Given the description of an element on the screen output the (x, y) to click on. 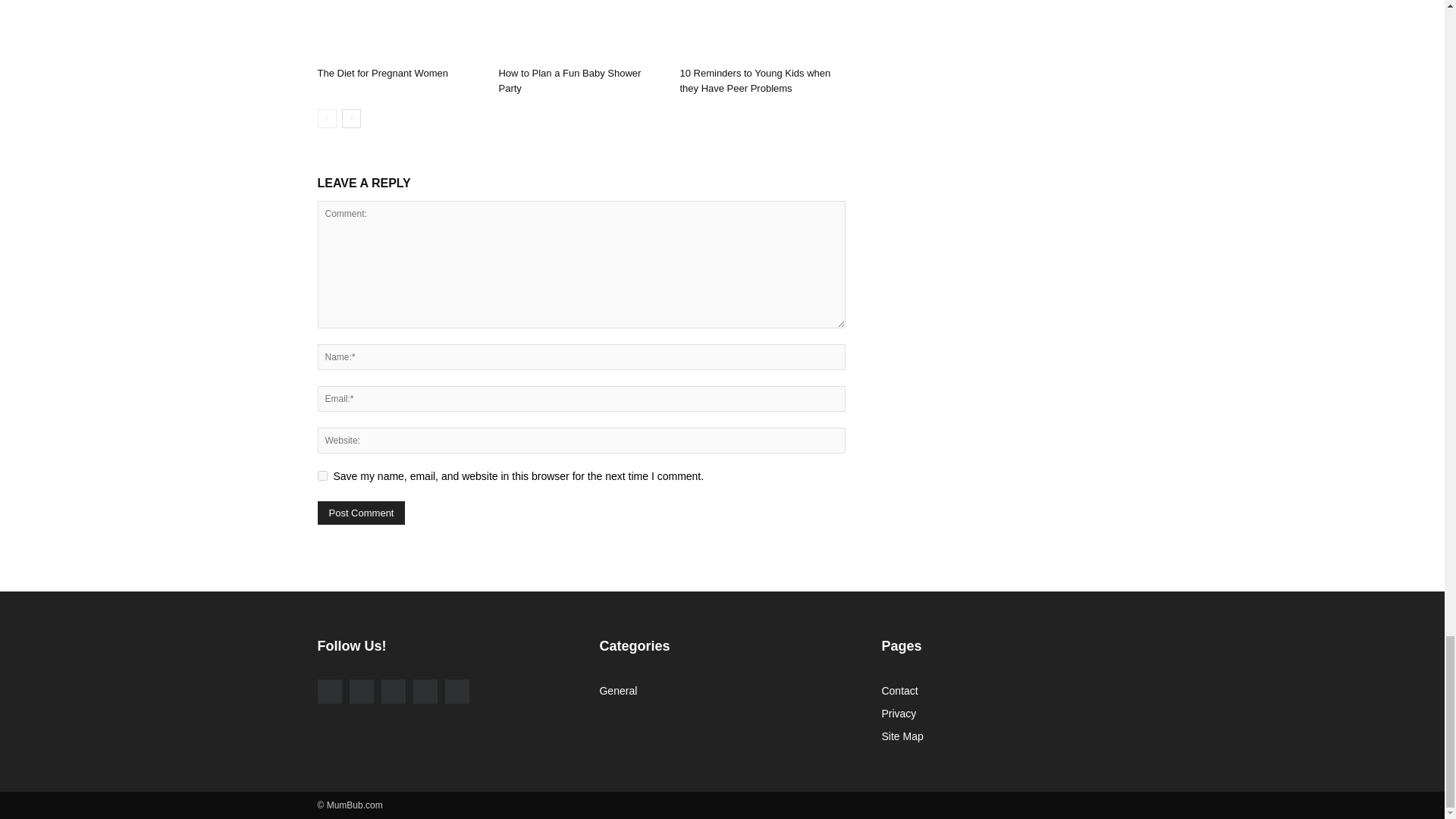
How to Plan a Fun Baby Shower Party (580, 30)
Post Comment (360, 512)
10 Reminders to Young Kids when they Have Peer Problems (761, 30)
How to Plan a Fun Baby Shower Party (568, 80)
The Diet for Pregnant Women (381, 72)
yes (321, 475)
The Diet for Pregnant Women (399, 30)
10 Reminders to Young Kids when they Have Peer Problems (754, 80)
Follow Us on Twitter (392, 691)
Follow Us on Facebook (328, 691)
